Given the description of an element on the screen output the (x, y) to click on. 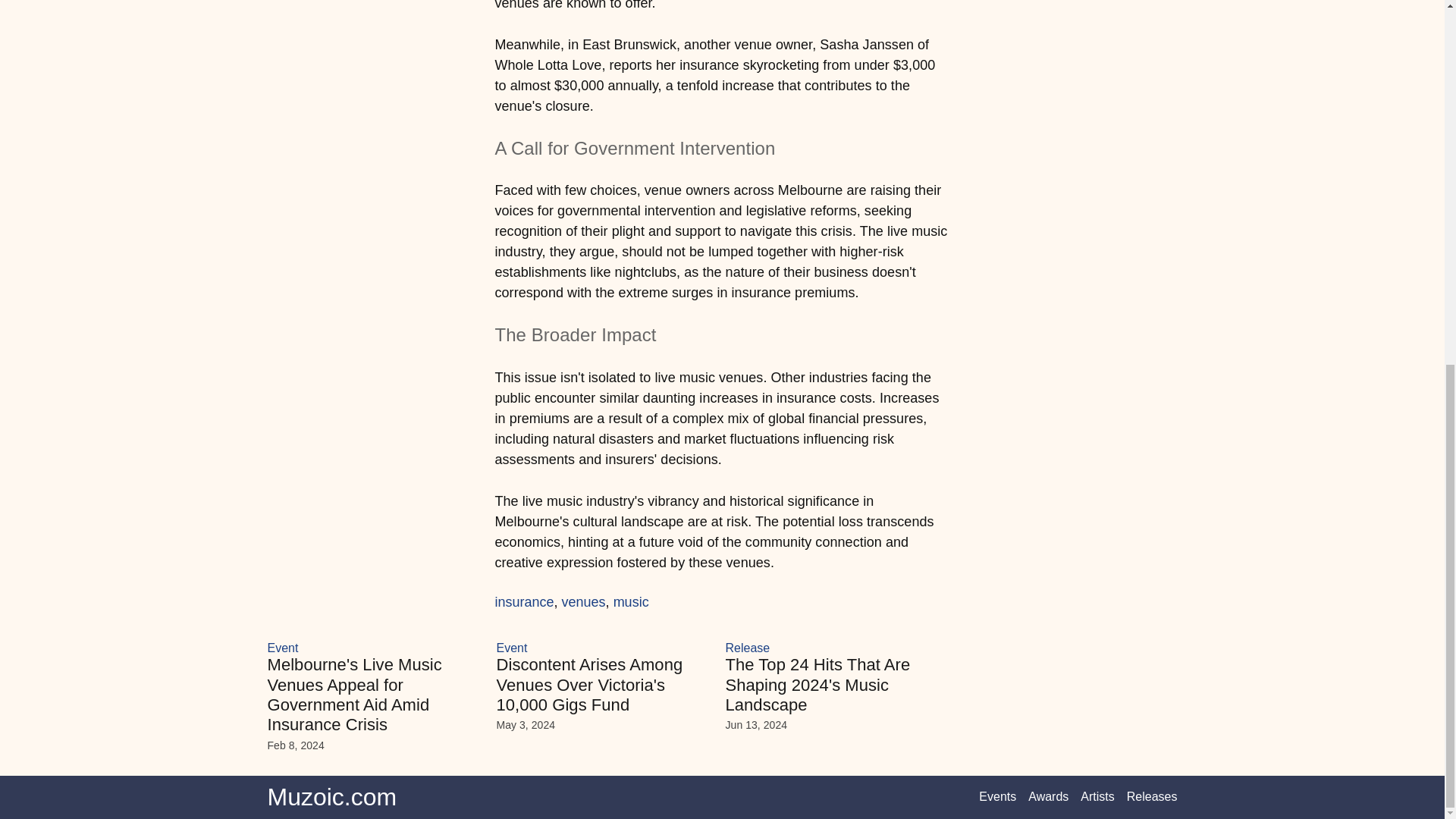
music (630, 601)
Artists (1096, 796)
venues (583, 601)
insurance (524, 601)
Releases (1151, 796)
Events (997, 796)
Awards (1047, 796)
Muzoic.com (331, 796)
